Given the description of an element on the screen output the (x, y) to click on. 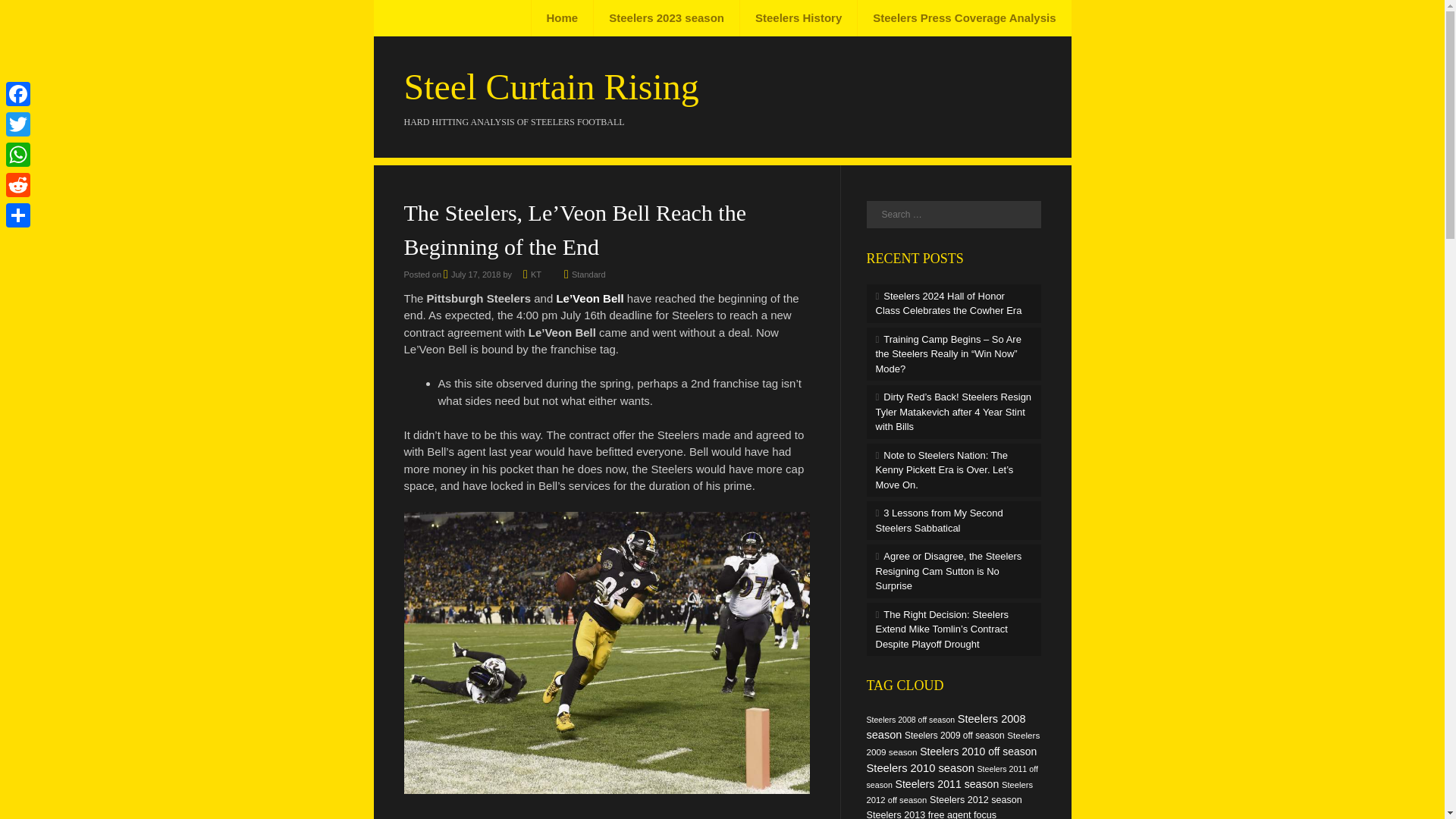
KT (536, 274)
View all posts by KT (536, 274)
Home (562, 18)
Skip to content (429, 18)
Skip to content (429, 18)
Steelers Press Coverage Analysis (963, 18)
82 topics (945, 727)
Steelers 2023 season (665, 18)
41 topics (910, 718)
Steel Curtain Rising (550, 86)
9:20 AM (472, 274)
Steelers History (798, 18)
Steel Curtain Rising (550, 86)
Standard (588, 274)
Permalink to  (588, 274)
